Given the description of an element on the screen output the (x, y) to click on. 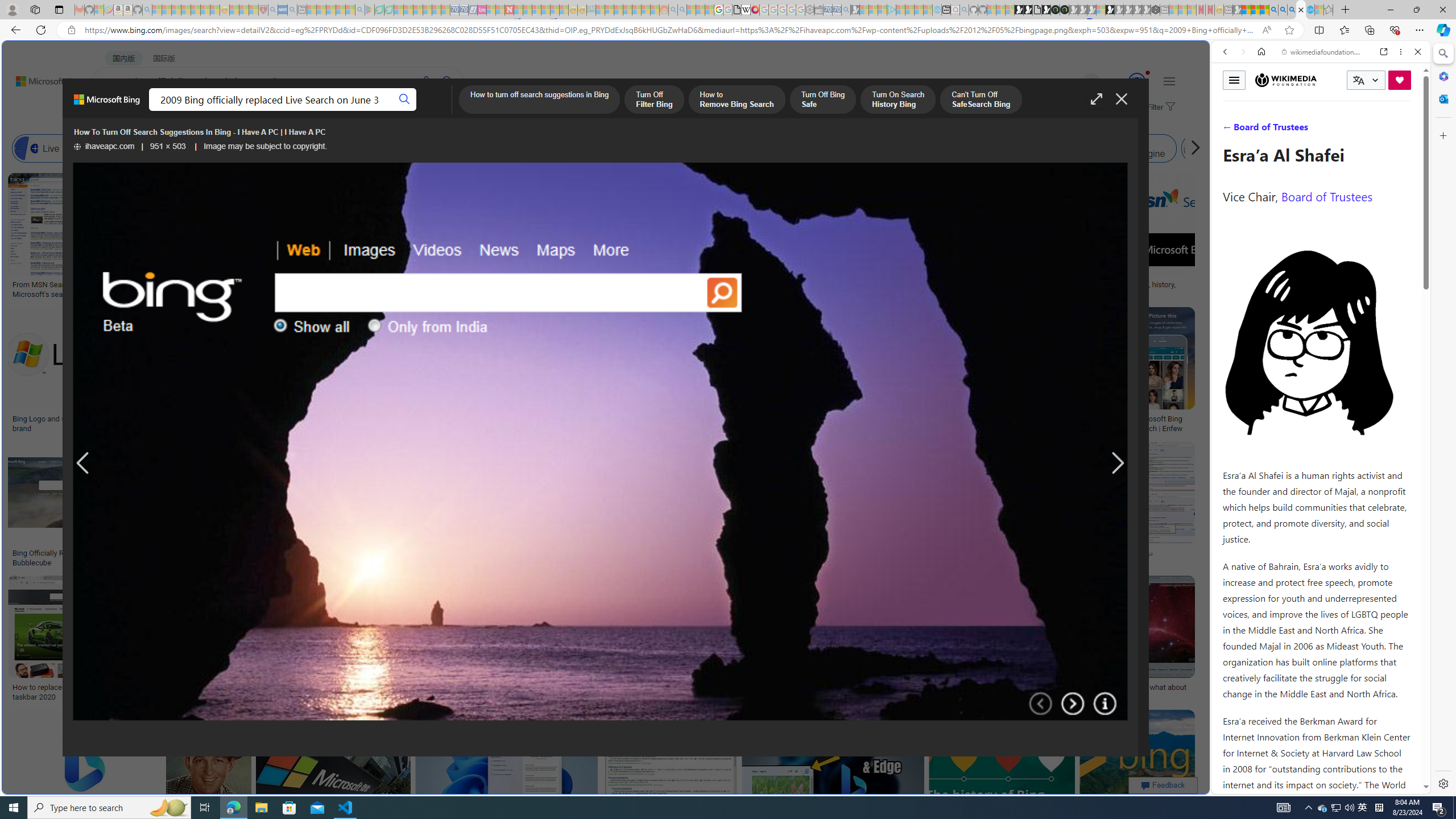
Can't Turn Off SafeSearch Bing (981, 100)
VIDEOS (310, 111)
Preferences (1403, 129)
Bing Picture Search Engine (280, 148)
Jobs - lastminute.com Investor Portal - Sleeping (482, 9)
Microsoft Live LogoSave (421, 237)
Search Filter, WEB (1230, 129)
